Given the description of an element on the screen output the (x, y) to click on. 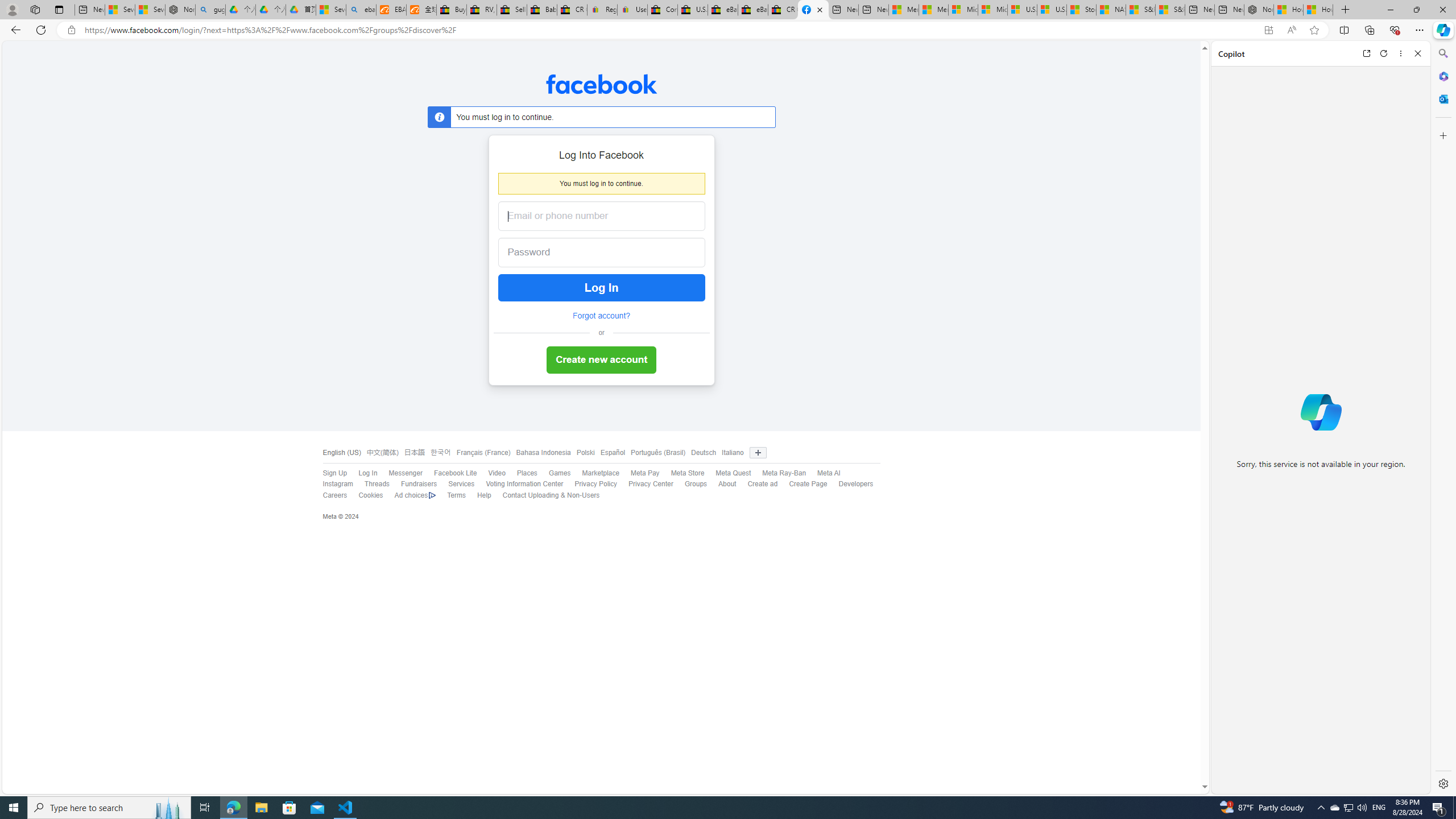
Cookies (364, 495)
Marketplace (600, 473)
Services (461, 483)
About (721, 484)
Create Page (802, 484)
Create new account (601, 360)
Privacy Policy (596, 483)
Outlook (1442, 98)
Privacy Center (644, 484)
Meta Quest (727, 473)
